Given the description of an element on the screen output the (x, y) to click on. 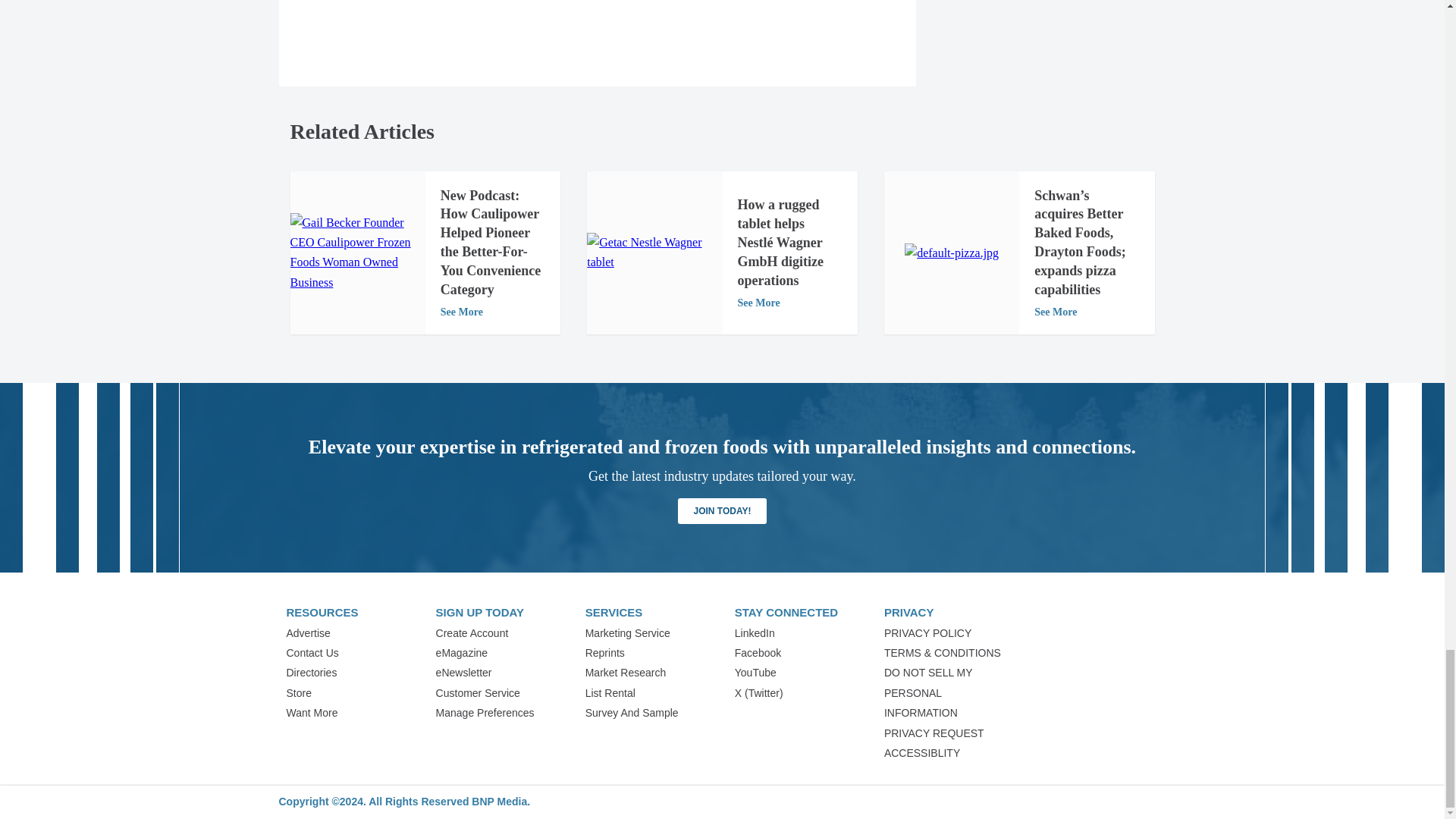
Interaction questions (597, 13)
default-pizza.jpg (951, 252)
